Given the description of an element on the screen output the (x, y) to click on. 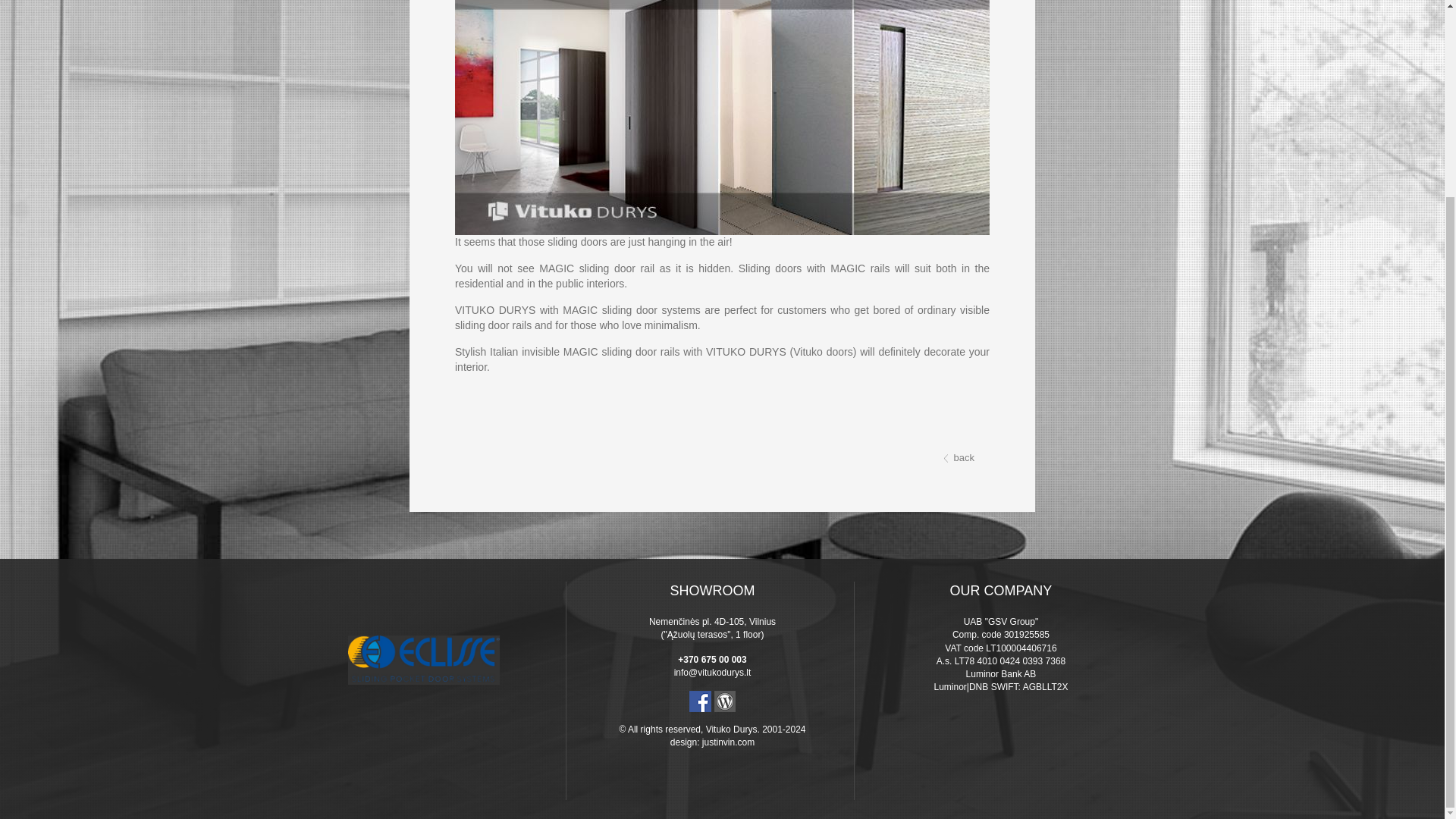
Vituko durys in Facebook (699, 700)
Vituko durys BLOG (724, 700)
back (958, 458)
justinvin.com (727, 742)
